Given the description of an element on the screen output the (x, y) to click on. 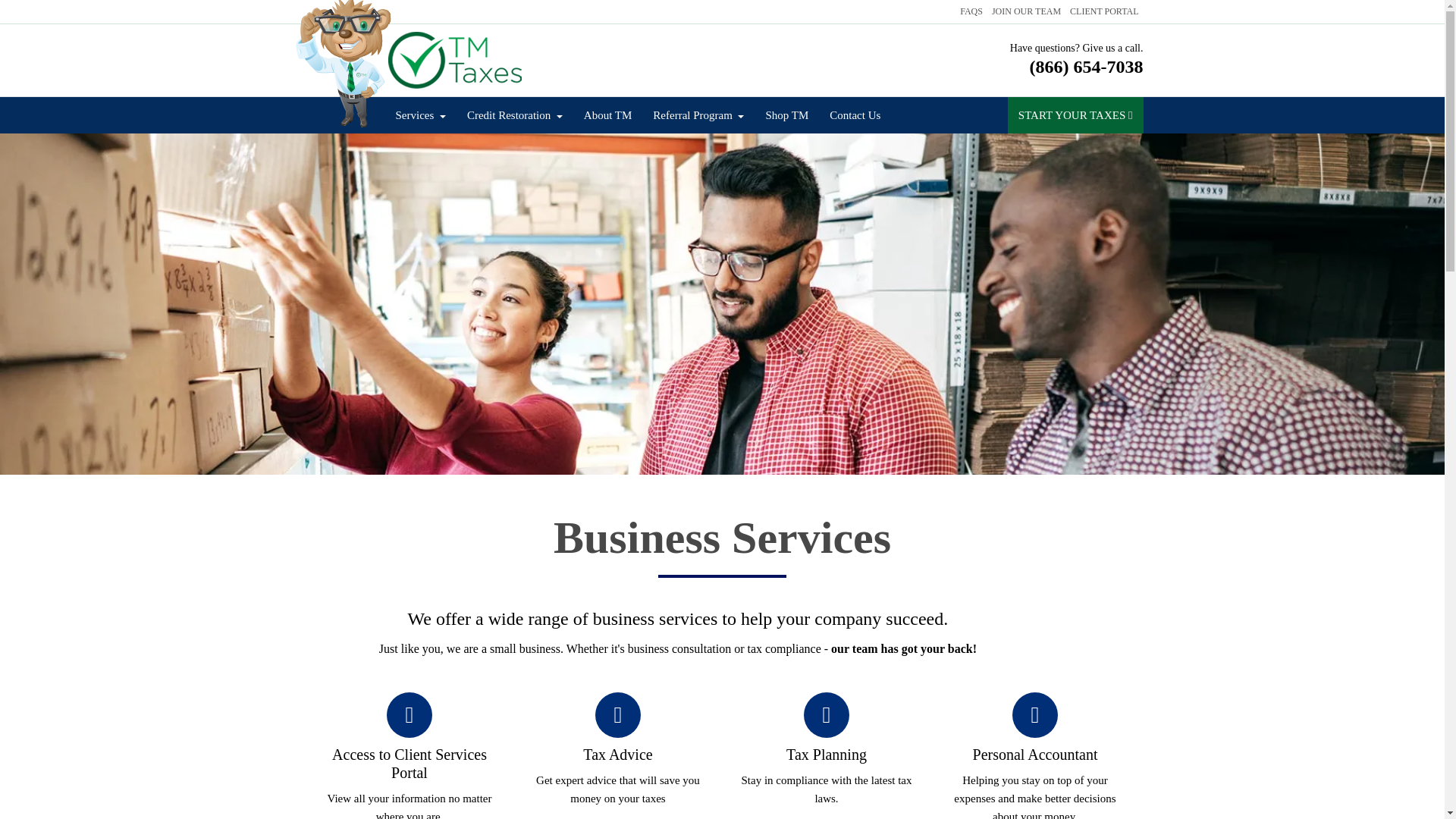
JOIN OUR TEAM (1026, 11)
Shop TM (786, 115)
Services (421, 115)
FAQS (970, 11)
CLIENT PORTAL (1104, 11)
Services (421, 115)
FAQs (970, 11)
About TM (607, 115)
START YOUR TAXES (1074, 115)
Referral Program (698, 115)
